Given the description of an element on the screen output the (x, y) to click on. 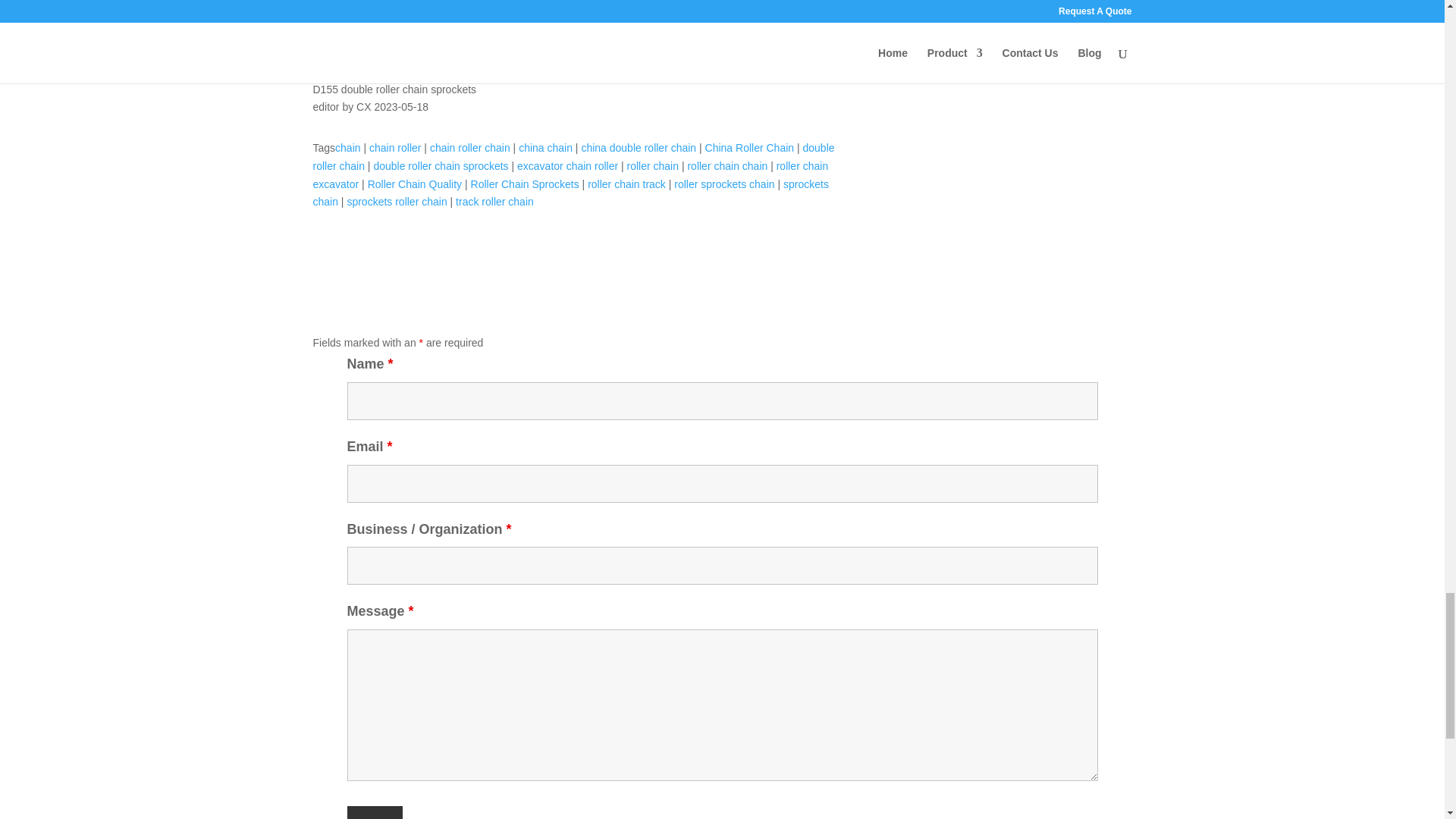
China Roller Chain (749, 147)
roller chain chain (727, 165)
roller sprockets chain (724, 184)
Roller Chain Quality (415, 184)
china double roller chain (637, 147)
china chain (545, 147)
roller chain excavator (570, 174)
chain roller chain (470, 147)
Roller Chain Sprockets (524, 184)
excavator chain roller (566, 165)
roller chain (652, 165)
Submit (375, 812)
double roller chain sprockets (440, 165)
roller chain track (626, 184)
double roller chain (573, 156)
